Given the description of an element on the screen output the (x, y) to click on. 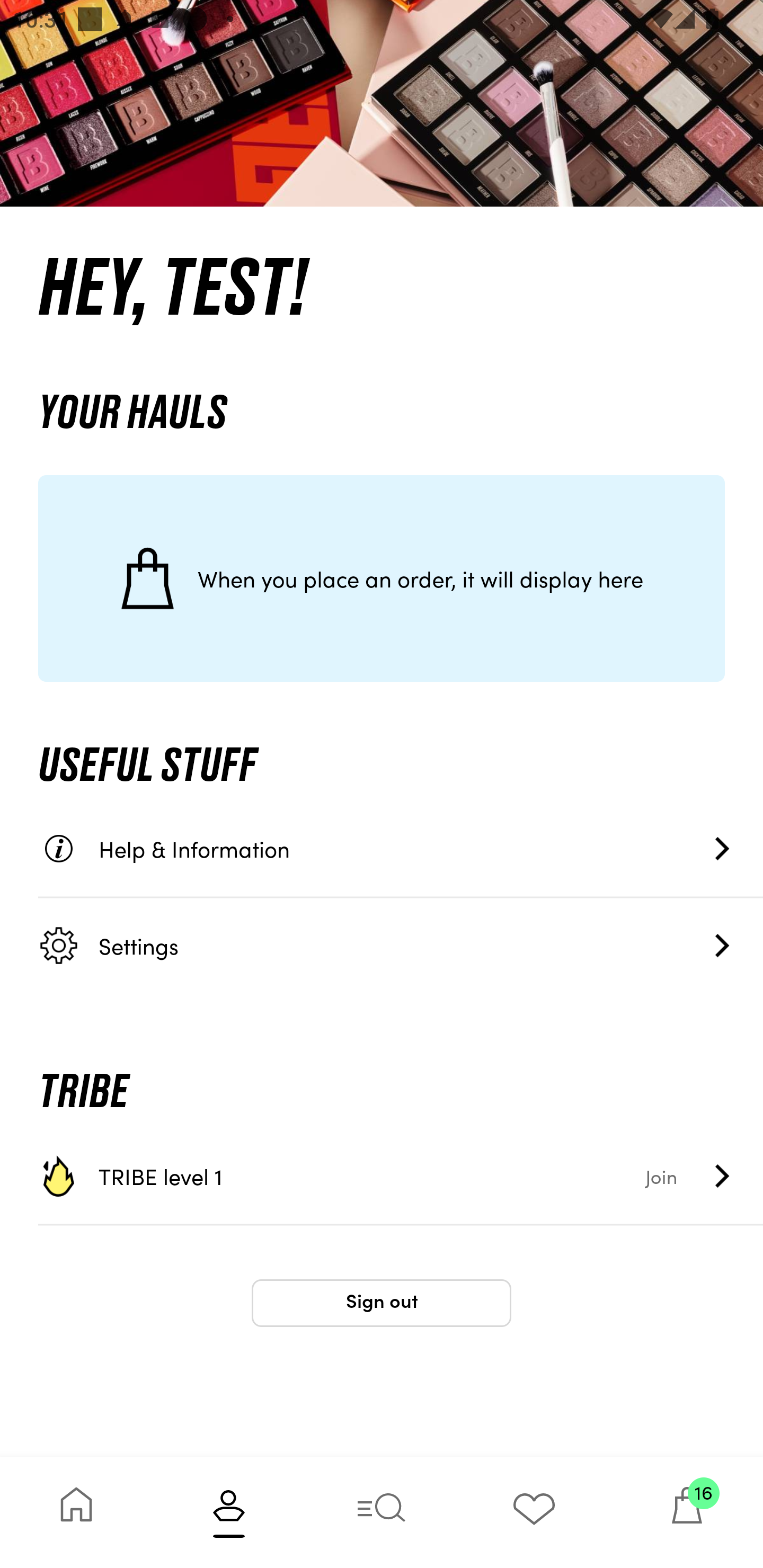
Help & Information (400, 848)
Settings (400, 945)
TRIBE level 1 Join (400, 1175)
Sign out (381, 1302)
16 (686, 1512)
